Given the description of an element on the screen output the (x, y) to click on. 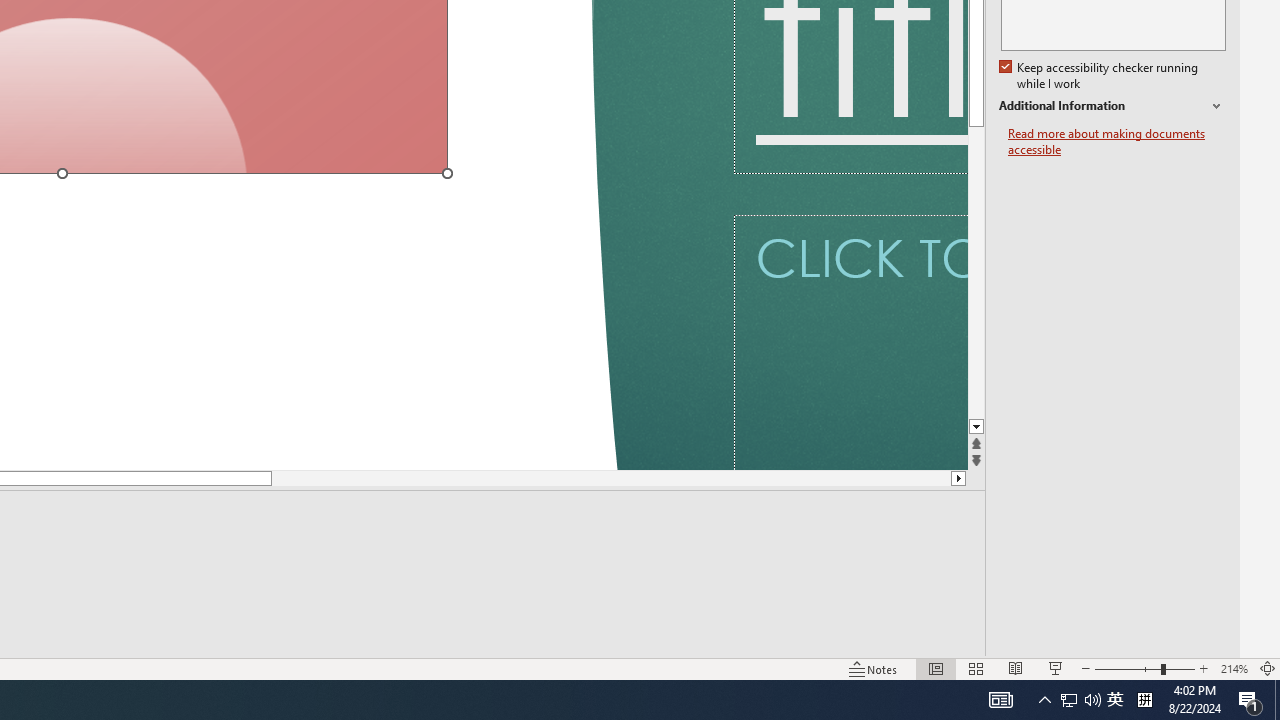
Read more about making documents accessible (1117, 142)
Zoom 214% (1234, 668)
Subtitle TextBox (850, 342)
